Given the description of an element on the screen output the (x, y) to click on. 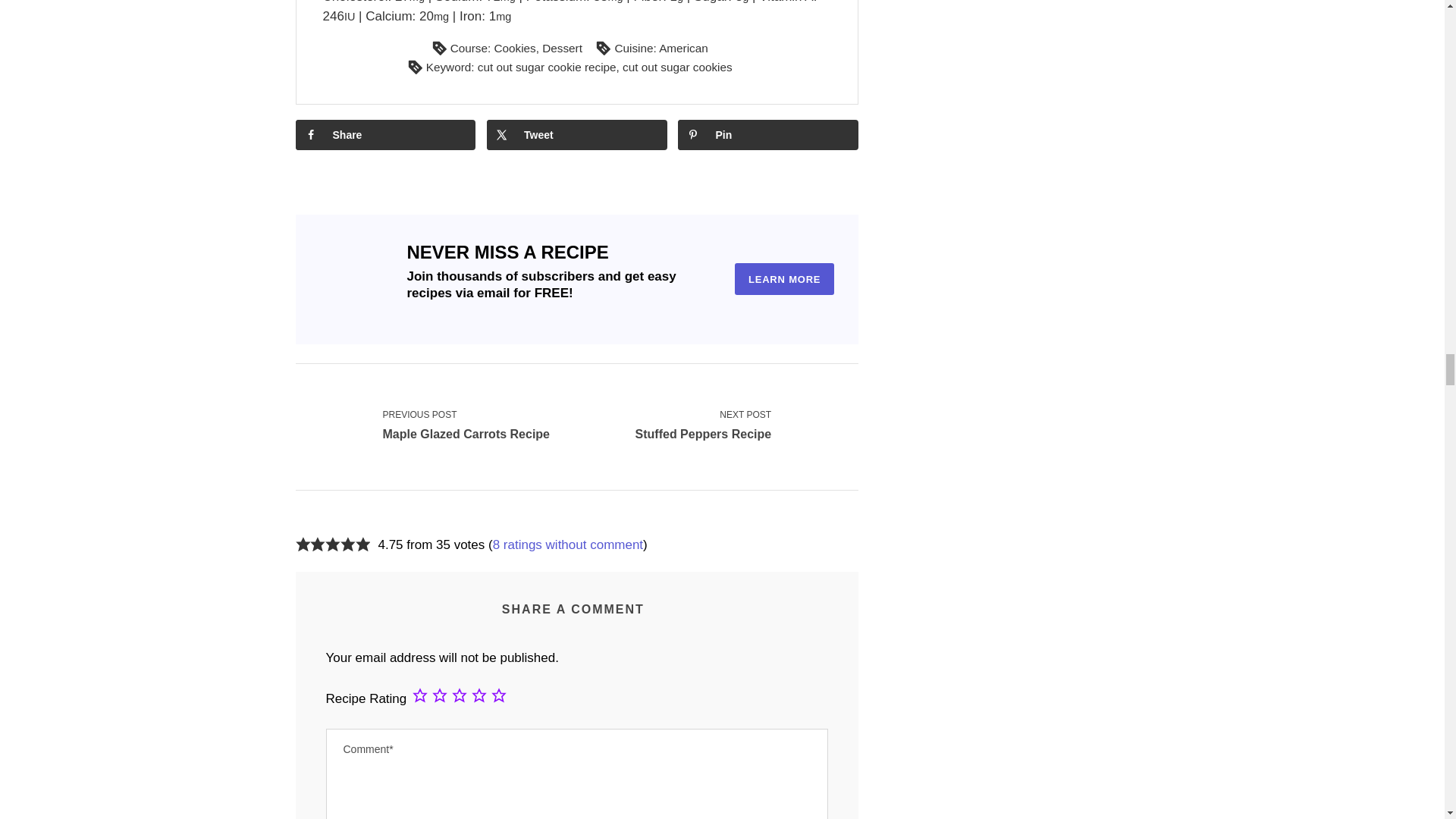
Save to Pinterest (768, 134)
Share on X (576, 134)
Share on Facebook (385, 134)
